Given the description of an element on the screen output the (x, y) to click on. 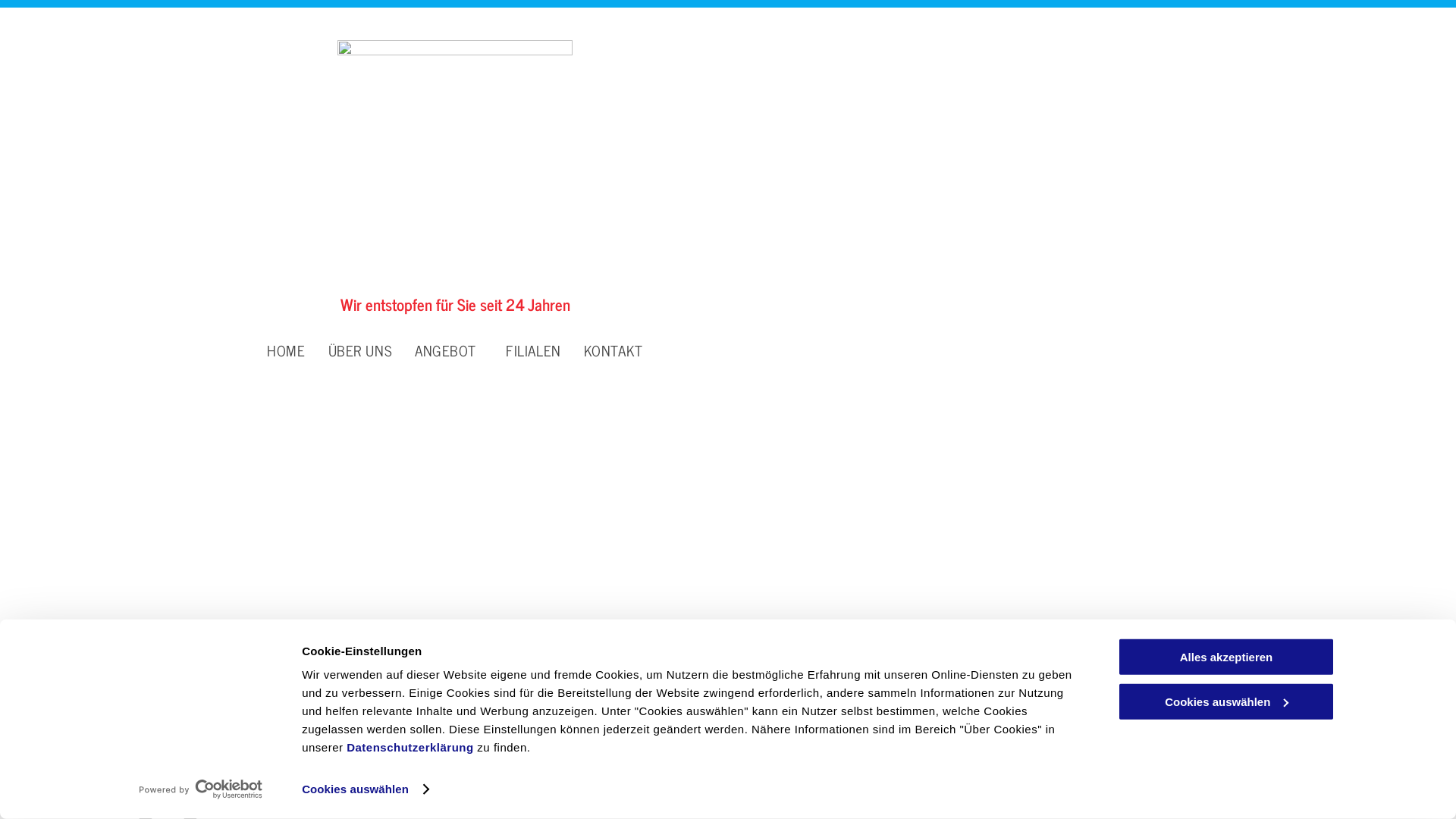
ANGEBOT Element type: text (448, 350)
KONTAKT Element type: text (613, 350)
Alles akzeptieren Element type: text (1225, 656)
FILIALEN Element type: text (533, 350)
HOME Element type: text (285, 350)
